Given the description of an element on the screen output the (x, y) to click on. 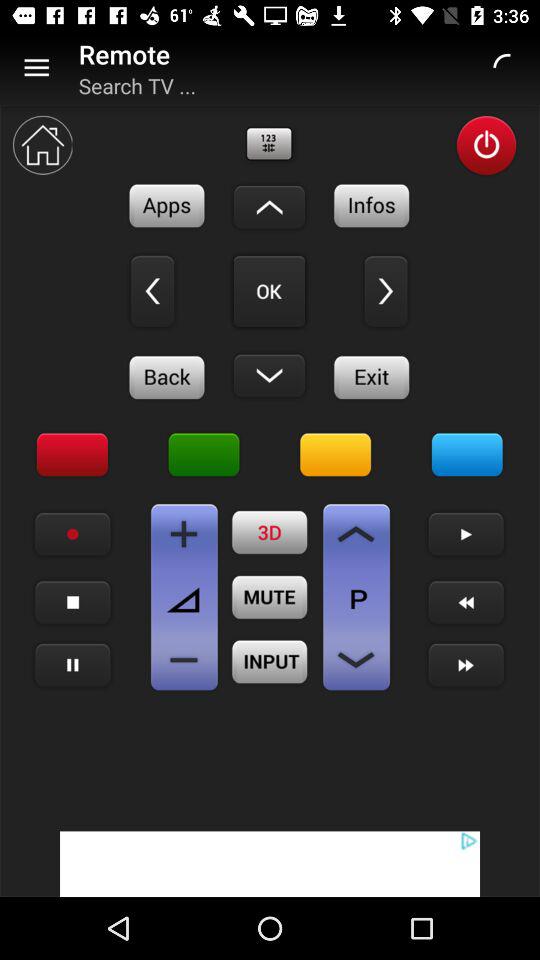
down button (269, 375)
